Given the description of an element on the screen output the (x, y) to click on. 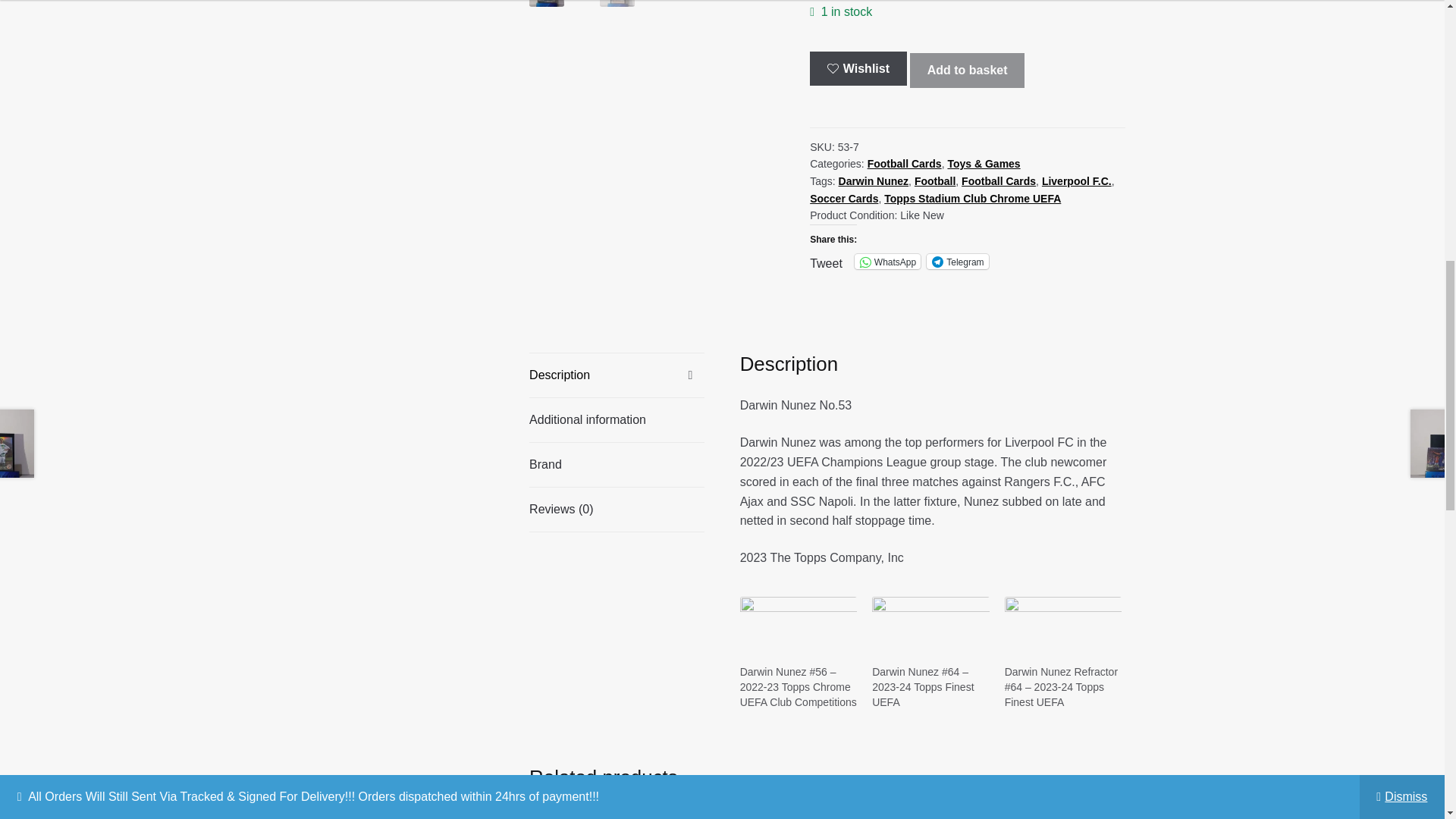
1000019575-scaled.jpg (897, 17)
Click to share on Telegram (957, 261)
Click to share on WhatsApp (887, 261)
1000019573-scaled.jpg (651, 17)
